Given the description of an element on the screen output the (x, y) to click on. 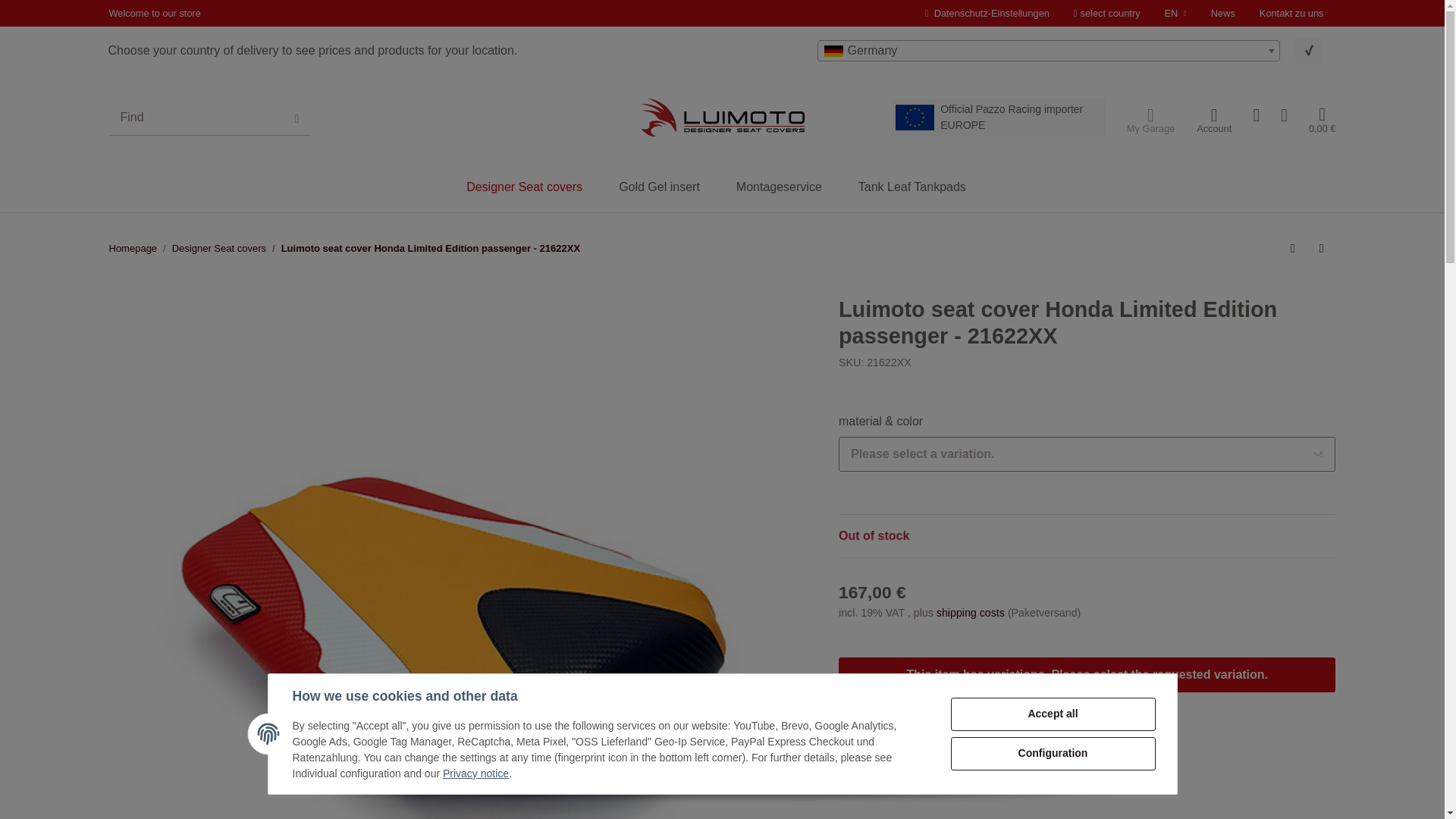
Datenschutz-Einstellungen (986, 13)
Tank Leaf Tankpads (912, 186)
Gold Gel insert (658, 186)
Montageservice (778, 186)
Designer Seat covers (523, 186)
Aktuelle Neuigkeiten (1222, 13)
Datenschutz-Einstellungen (986, 13)
select country (1107, 13)
Gold Gel insert (658, 186)
Montageservice (778, 186)
Designer Seat covers (218, 248)
Kontakt zu uns (1291, 13)
Luimoto seat cover Honda Limited Edition passenger - 21622XX (430, 248)
shipping costs (971, 612)
